Given the description of an element on the screen output the (x, y) to click on. 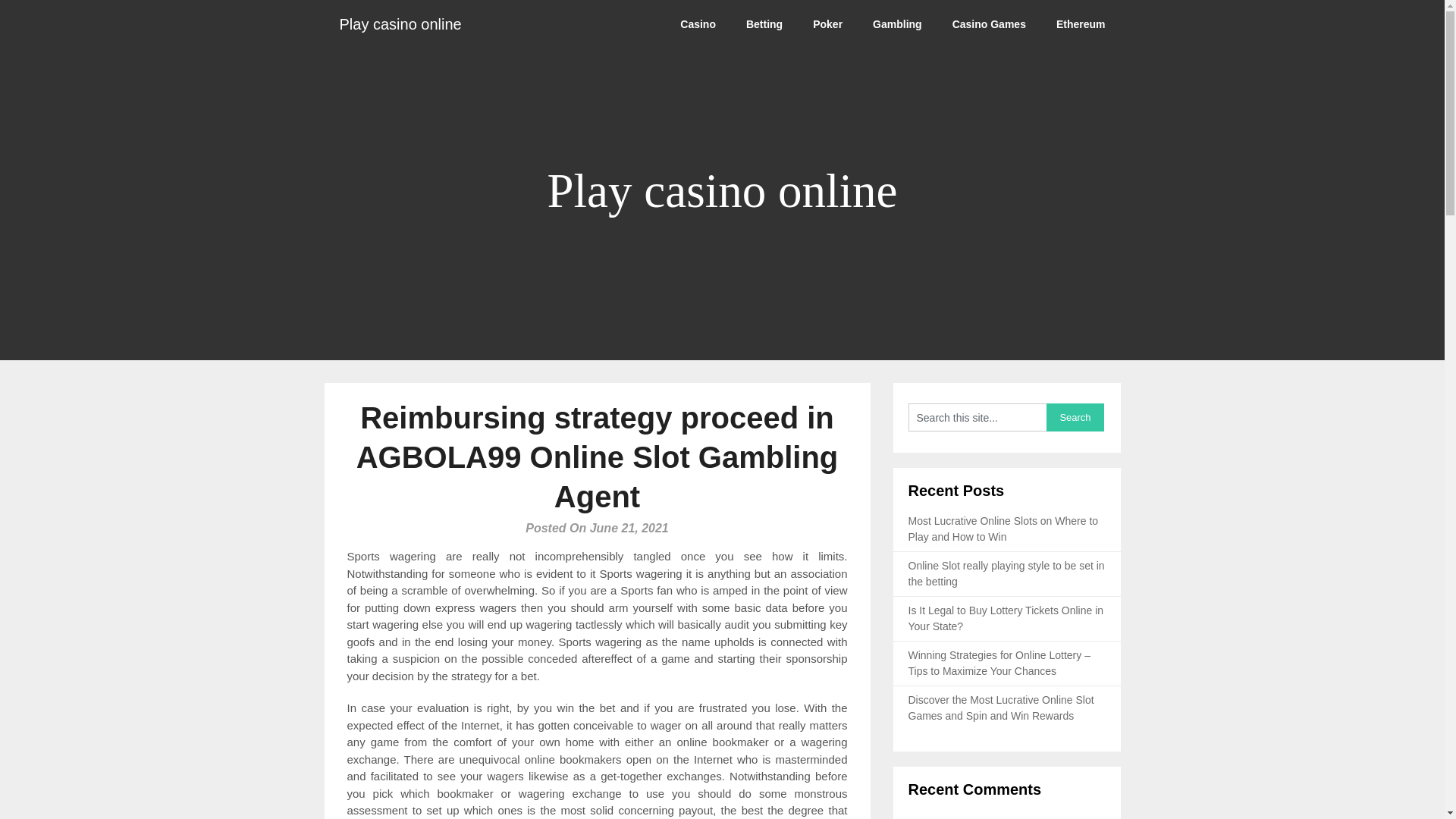
Casino Games (989, 24)
Is It Legal to Buy Lottery Tickets Online in Your State? (1005, 618)
Search (1075, 417)
Ethereum (1081, 24)
Search this site... (977, 417)
Play casino online (400, 24)
Gambling (897, 24)
Poker (827, 24)
Search (1075, 417)
